Given the description of an element on the screen output the (x, y) to click on. 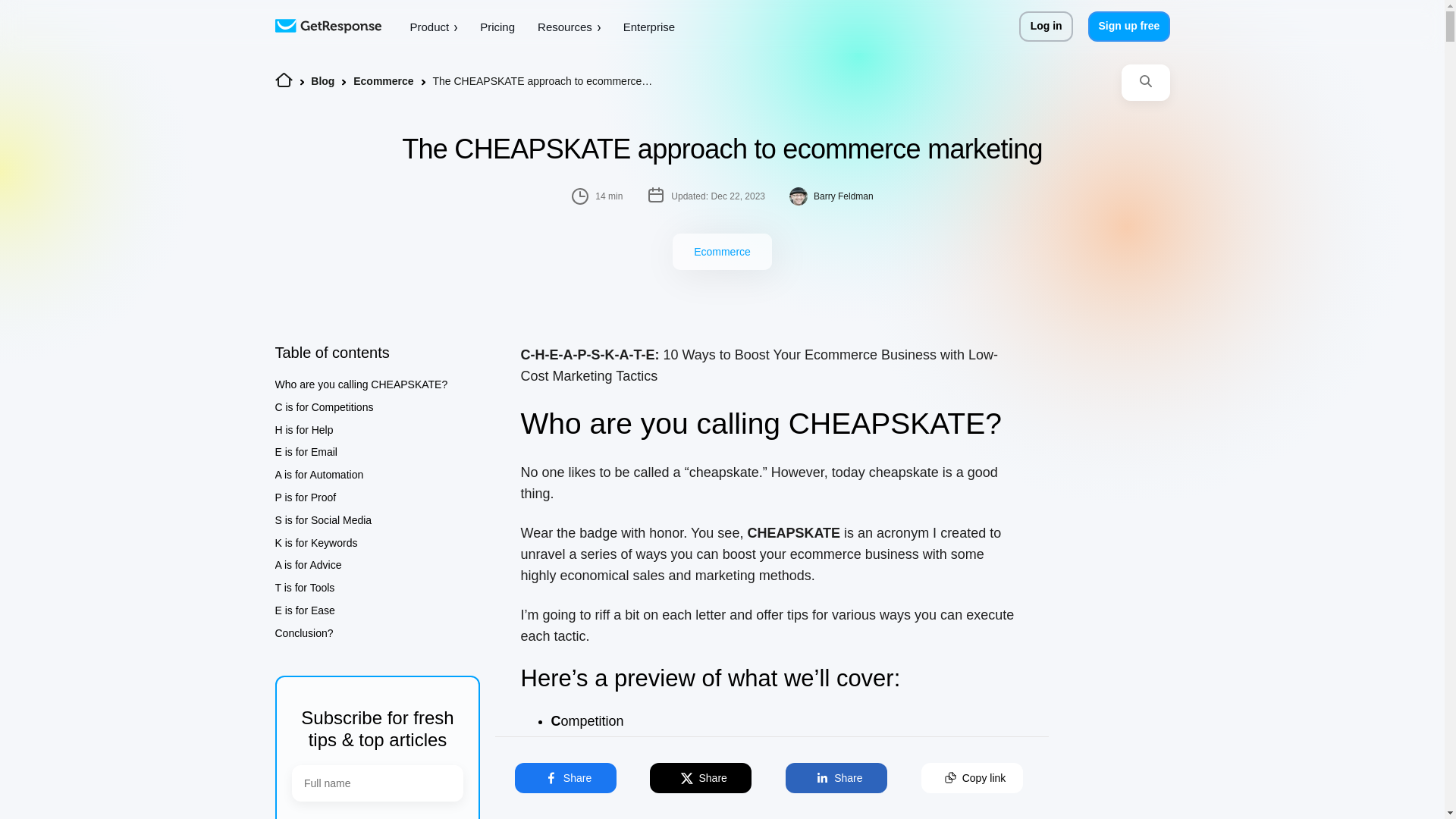
Resources (568, 26)
Product (433, 26)
 Email Marketing Software by GetResponse (327, 25)
Sign up free (1128, 26)
Enterprise (649, 26)
Sign up free (1128, 26)
Log in (1046, 26)
Pricing (497, 26)
